Given the description of an element on the screen output the (x, y) to click on. 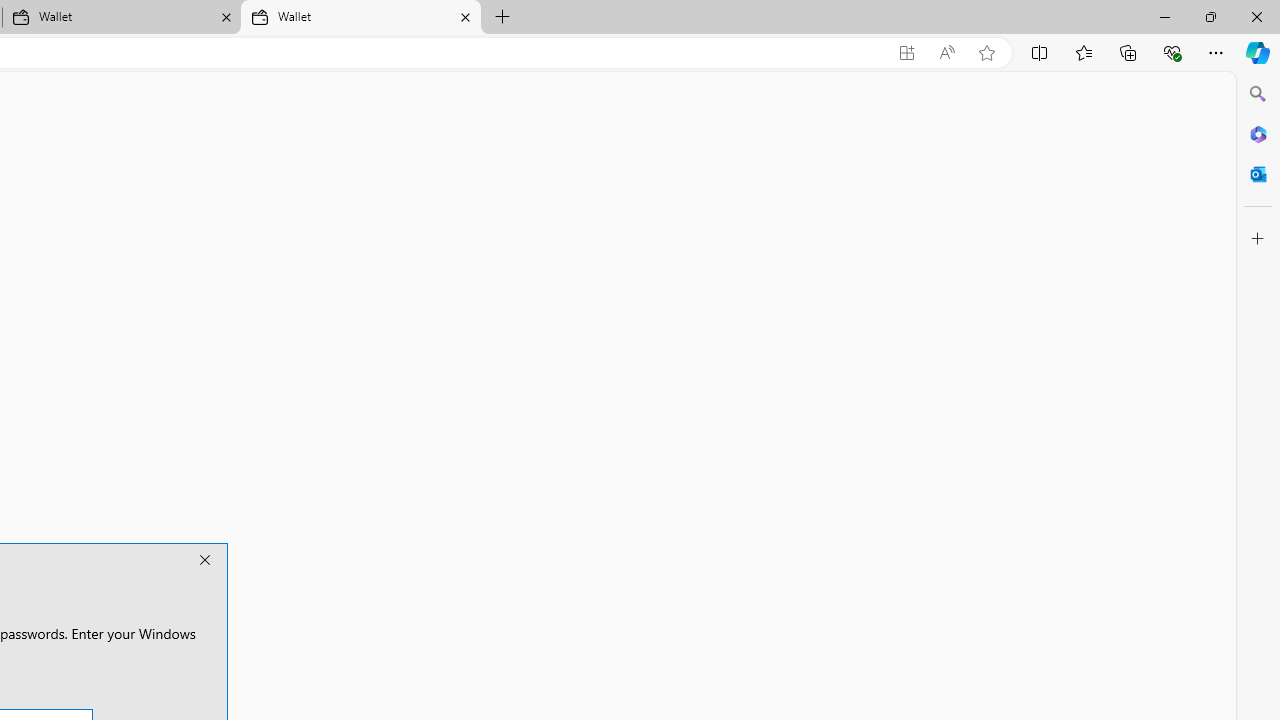
App available. Install Microsoft Wallet (906, 53)
Wallet (360, 17)
